Given the description of an element on the screen output the (x, y) to click on. 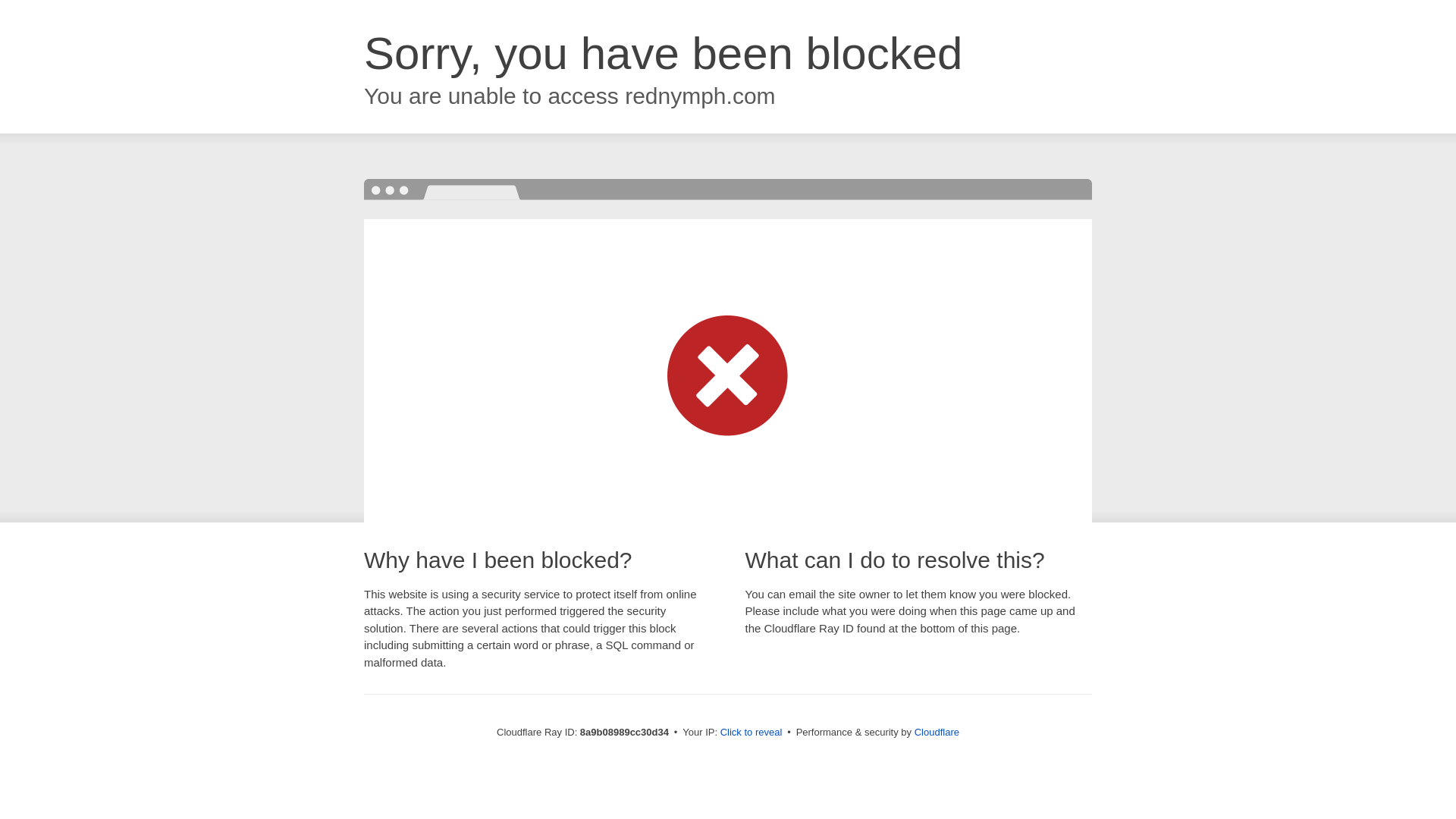
Cloudflare (936, 731)
Click to reveal (751, 732)
